Given the description of an element on the screen output the (x, y) to click on. 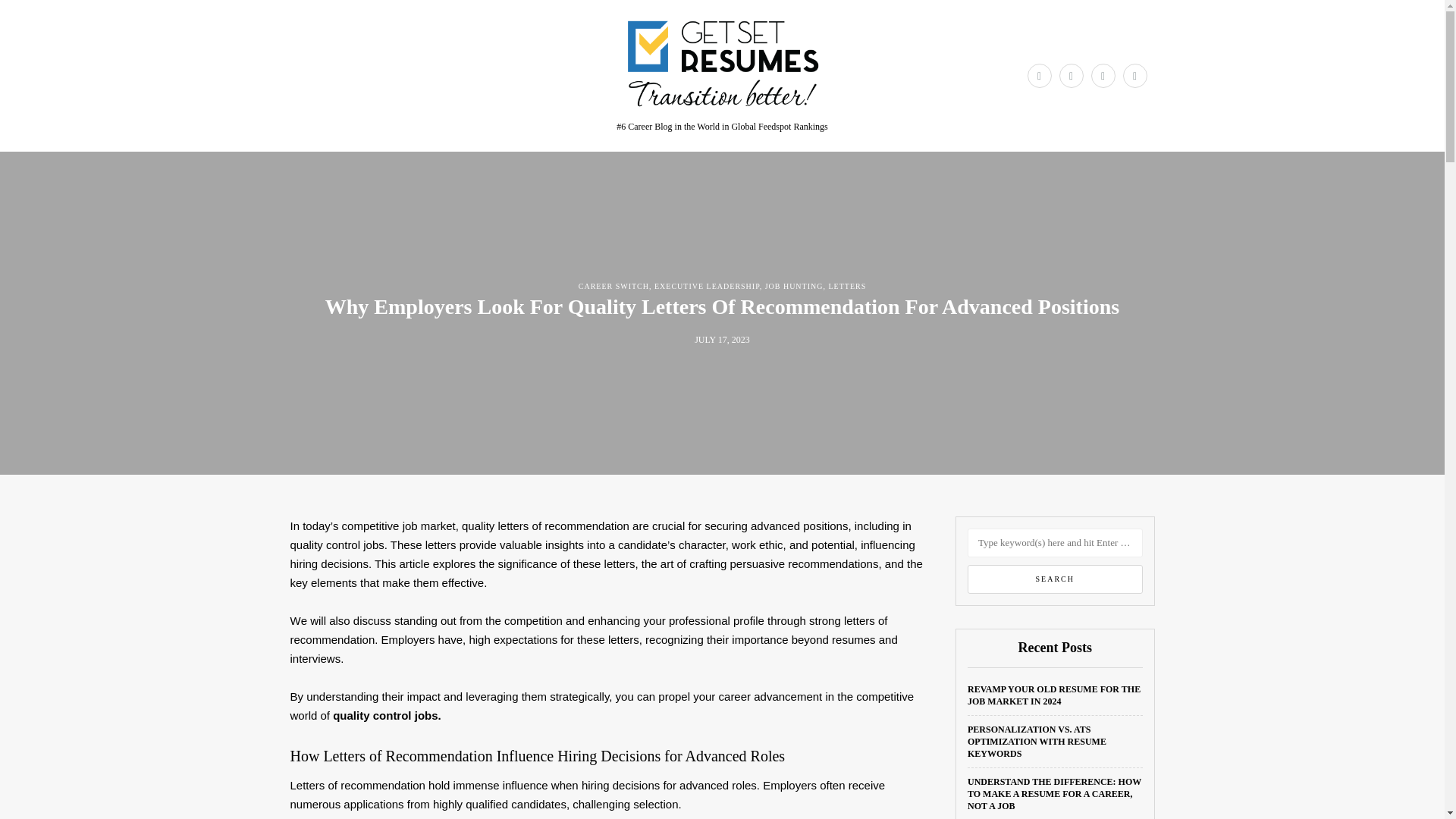
EXECUTIVE LEADERSHIP (706, 285)
Search (1055, 579)
JOB HUNTING (794, 285)
PERSONALIZATION VS. ATS OPTIMIZATION WITH RESUME KEYWORDS (1037, 741)
Search (1055, 579)
CAREER SWITCH (613, 285)
REVAMP YOUR OLD RESUME FOR THE JOB MARKET IN 2024 (1054, 694)
LETTERS (847, 285)
